Given the description of an element on the screen output the (x, y) to click on. 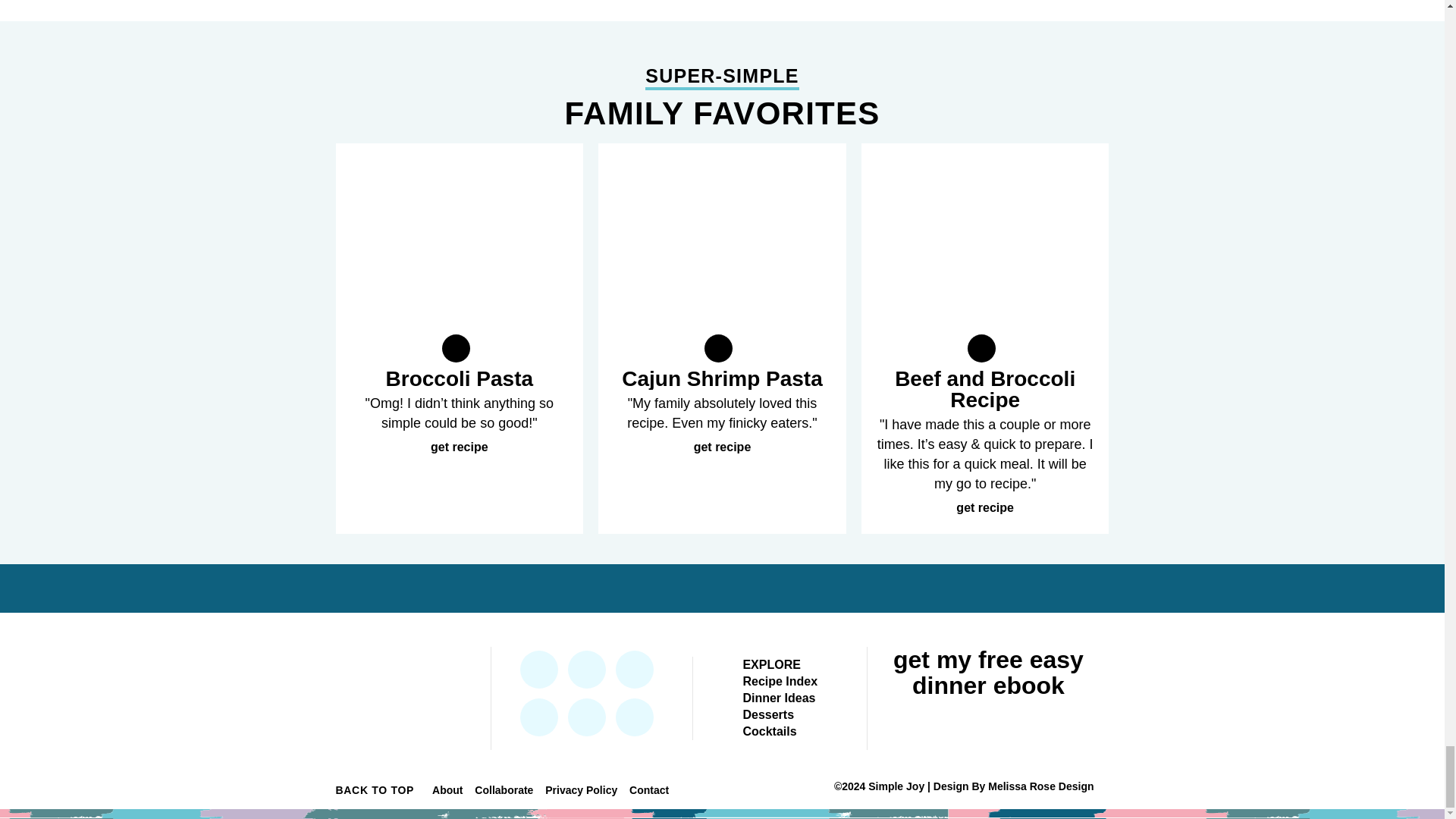
Cocktails (769, 730)
Desserts (767, 714)
Recipe Index (779, 680)
Dinner Ideas (778, 697)
